Given the description of an element on the screen output the (x, y) to click on. 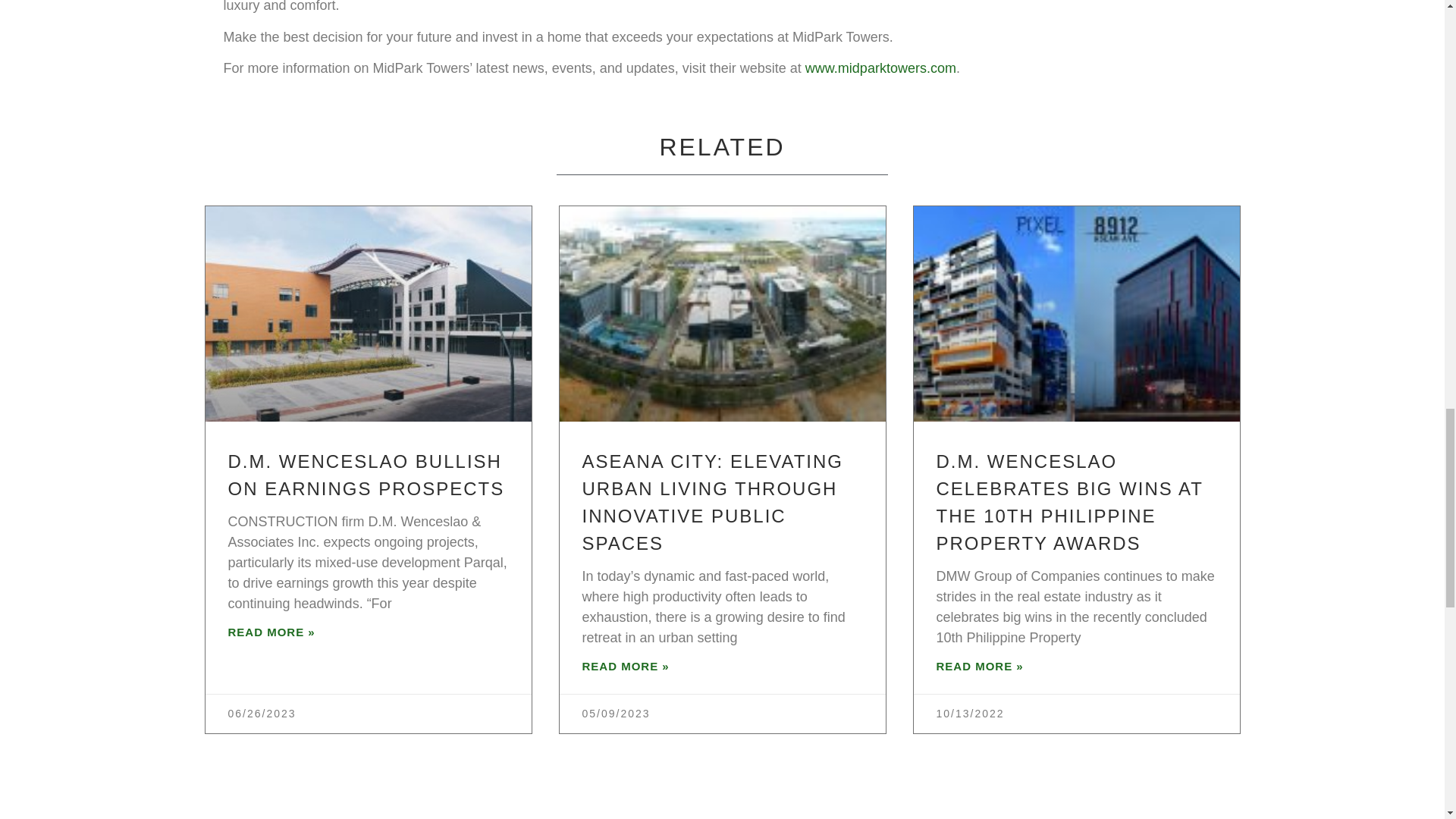
www.midparktowers.com (880, 68)
D.M. WENCESLAO BULLISH ON EARNINGS PROSPECTS (365, 474)
